Given the description of an element on the screen output the (x, y) to click on. 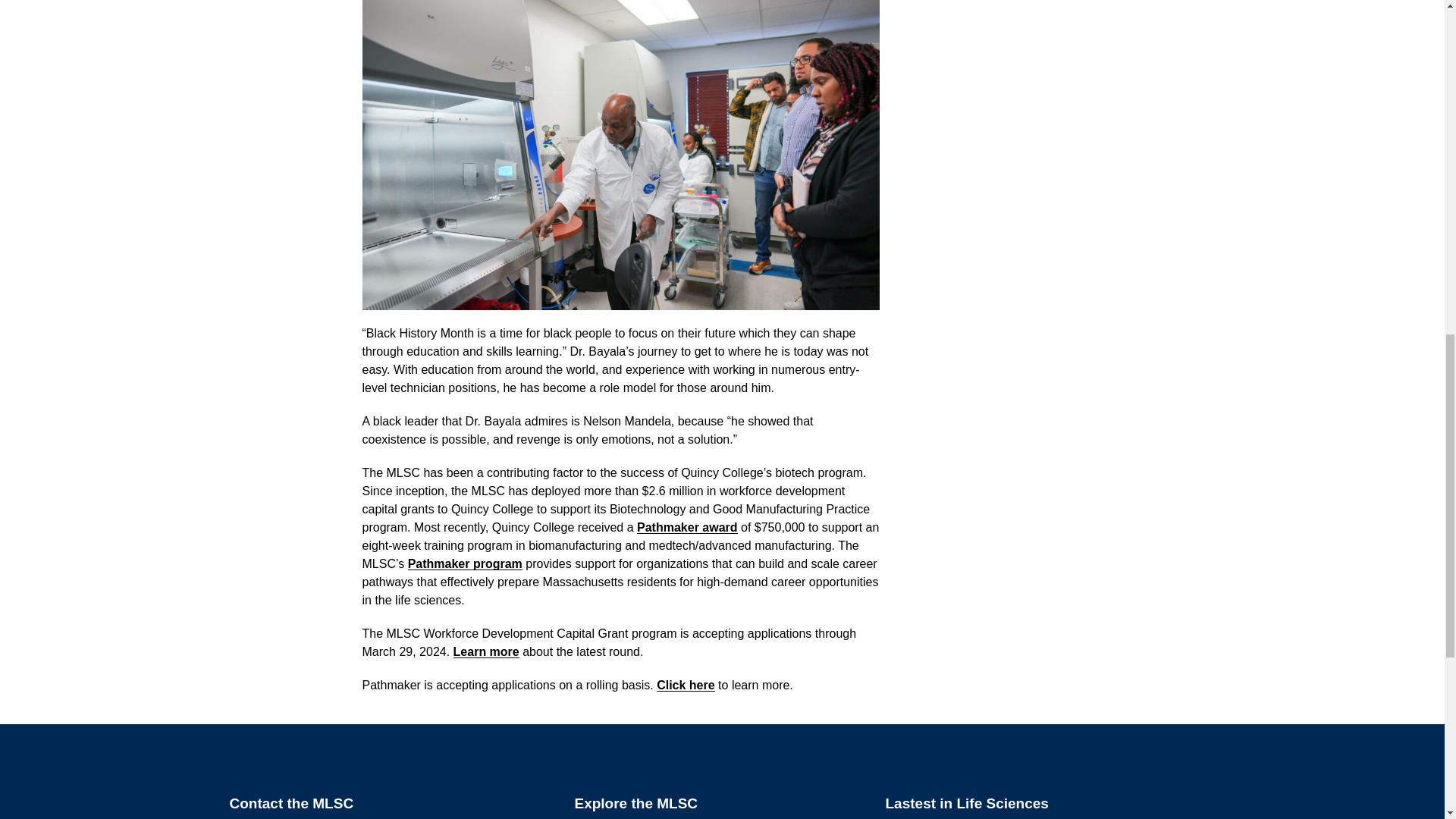
Learn more (485, 651)
Click here (685, 684)
Pathmaker program (464, 563)
Pathmaker award (687, 526)
